Given the description of an element on the screen output the (x, y) to click on. 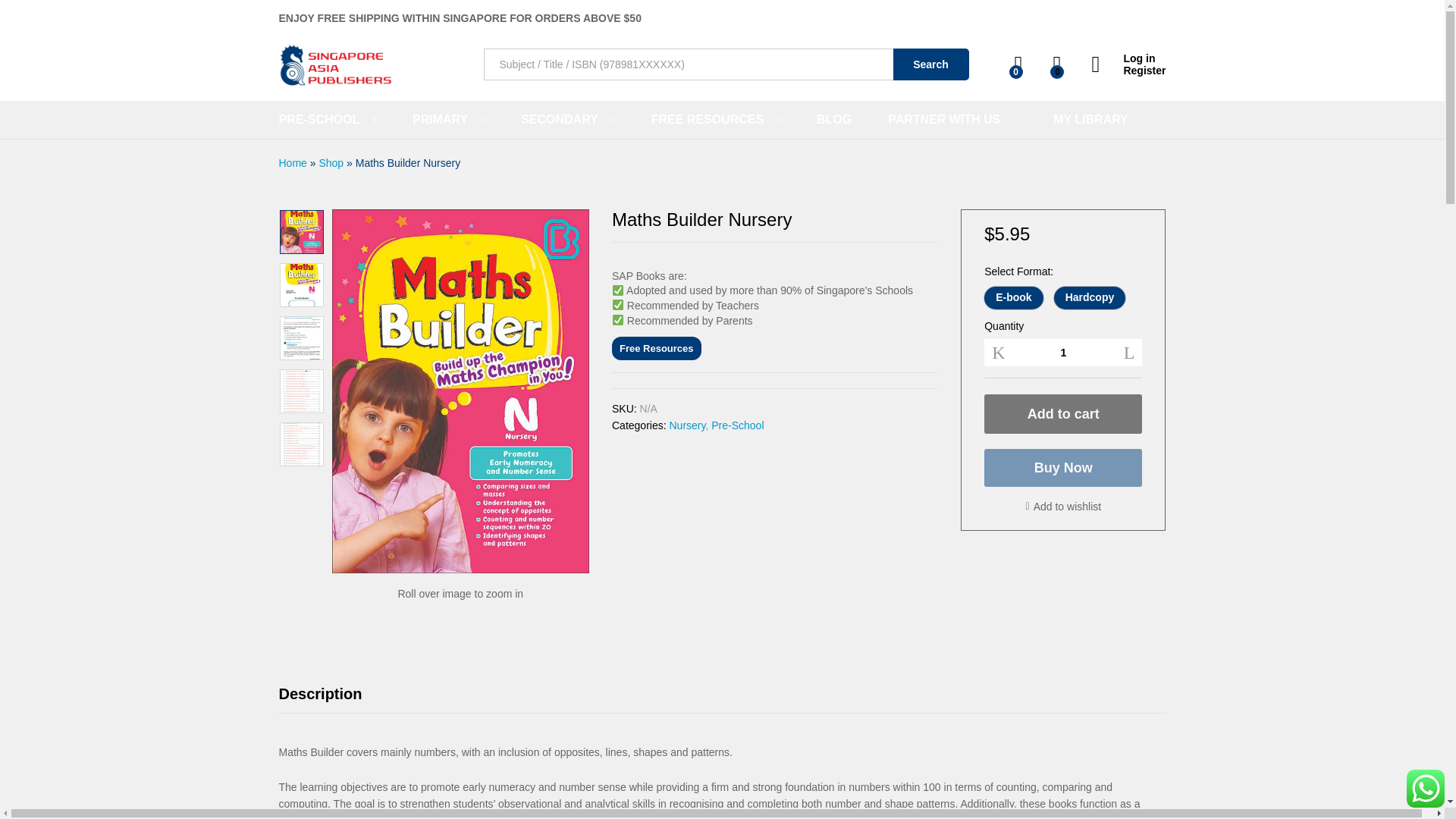
Add to wishlist (1064, 506)
Register (1128, 70)
PRE-SCHOOL (319, 119)
Log in (1128, 58)
1 (1062, 352)
Qty (1062, 352)
PRIMARY (439, 119)
Search (931, 64)
